Given the description of an element on the screen output the (x, y) to click on. 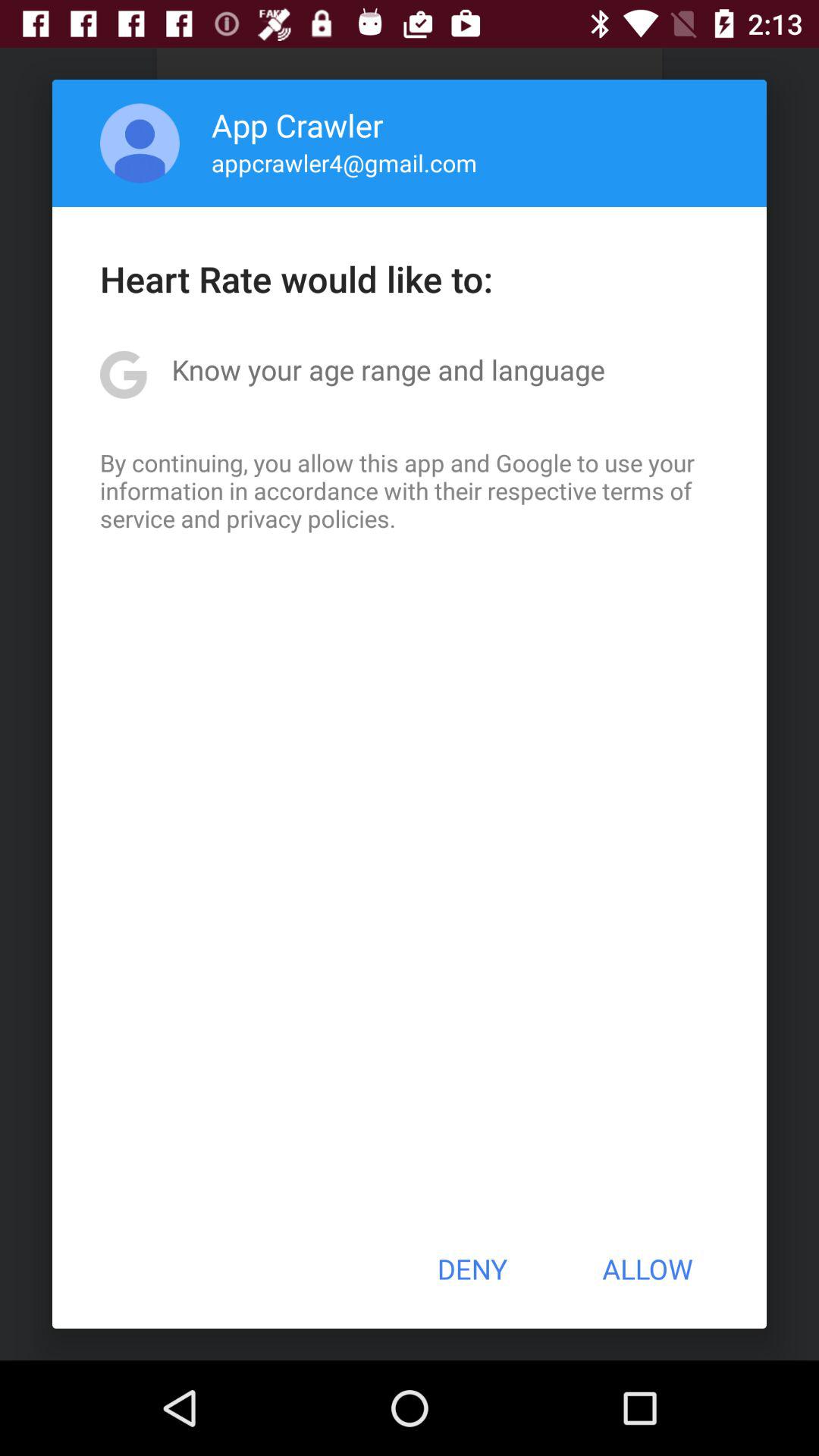
open app below app crawler app (344, 162)
